Given the description of an element on the screen output the (x, y) to click on. 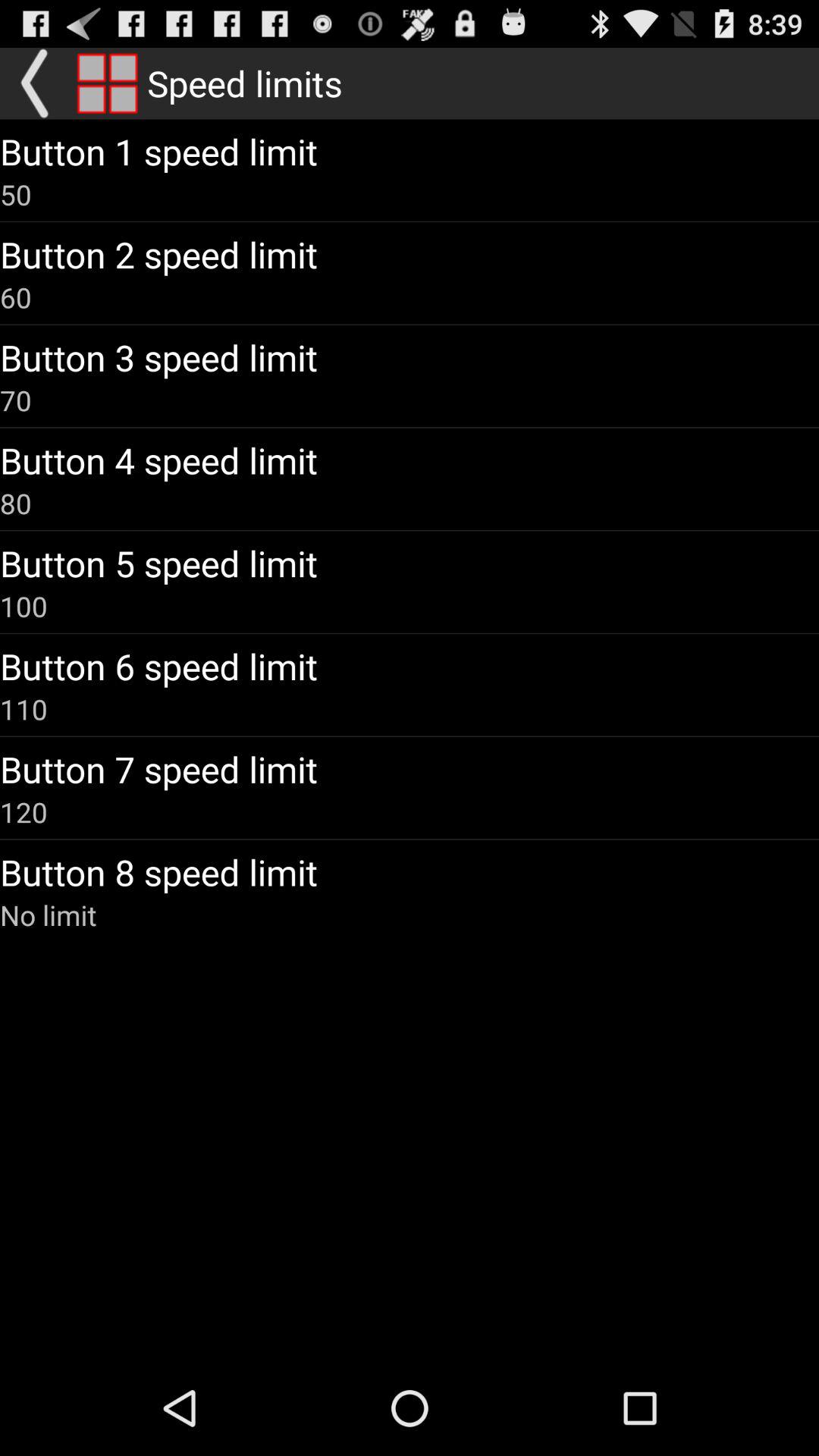
launch 50 item (15, 194)
